Given the description of an element on the screen output the (x, y) to click on. 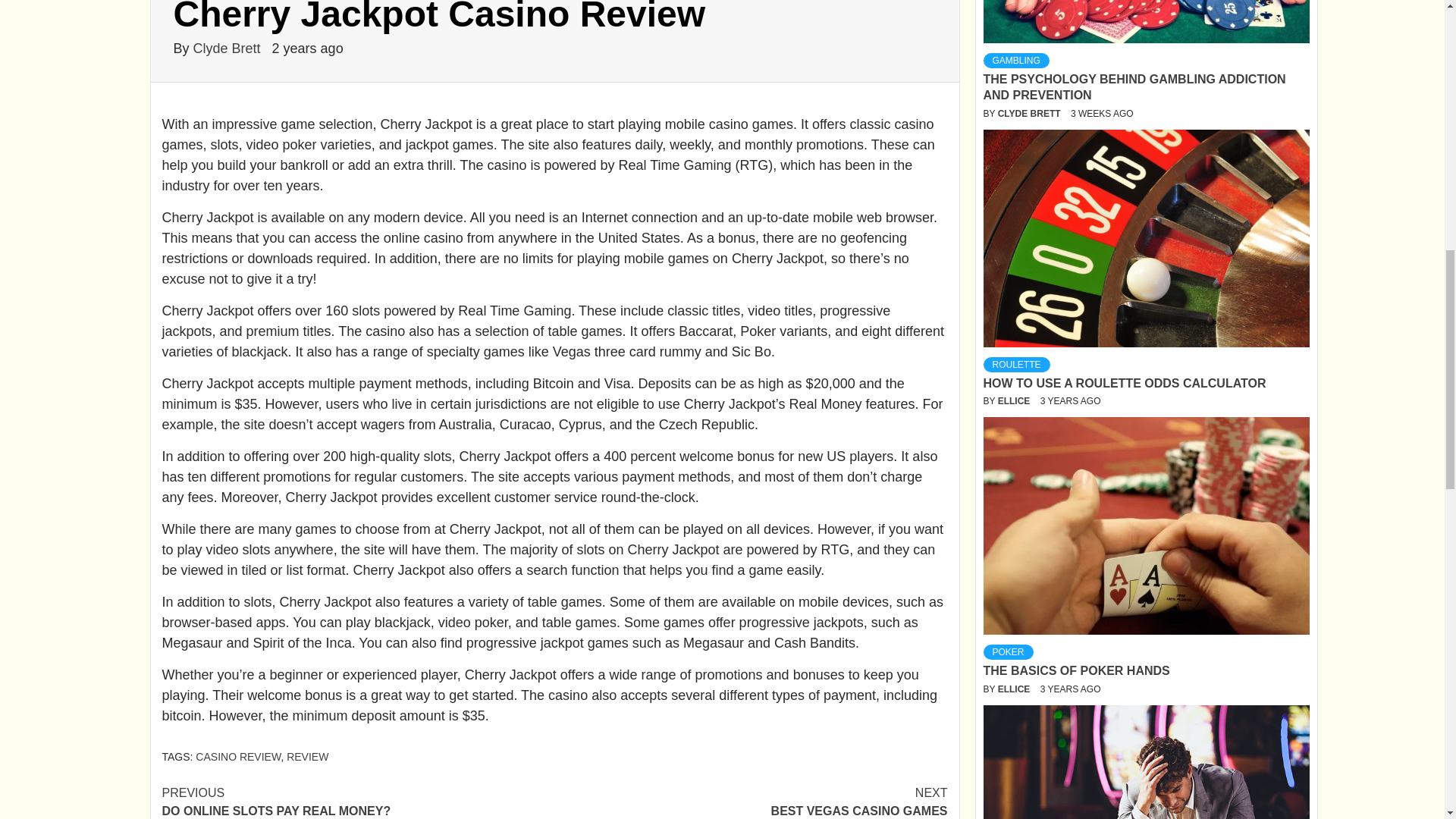
ROULETTE (1015, 364)
REVIEW (307, 756)
THE BASICS OF POKER HANDS (1075, 670)
GAMBLING (1015, 60)
POKER (357, 801)
CLYDE BRETT (750, 801)
ELLICE (1007, 652)
THE PSYCHOLOGY BEHIND GAMBLING ADDICTION AND PREVENTION (1029, 113)
Clyde Brett (1014, 400)
ELLICE (1133, 86)
CASINO REVIEW (228, 48)
HOW TO USE A ROULETTE ODDS CALCULATOR (1014, 688)
